Given the description of an element on the screen output the (x, y) to click on. 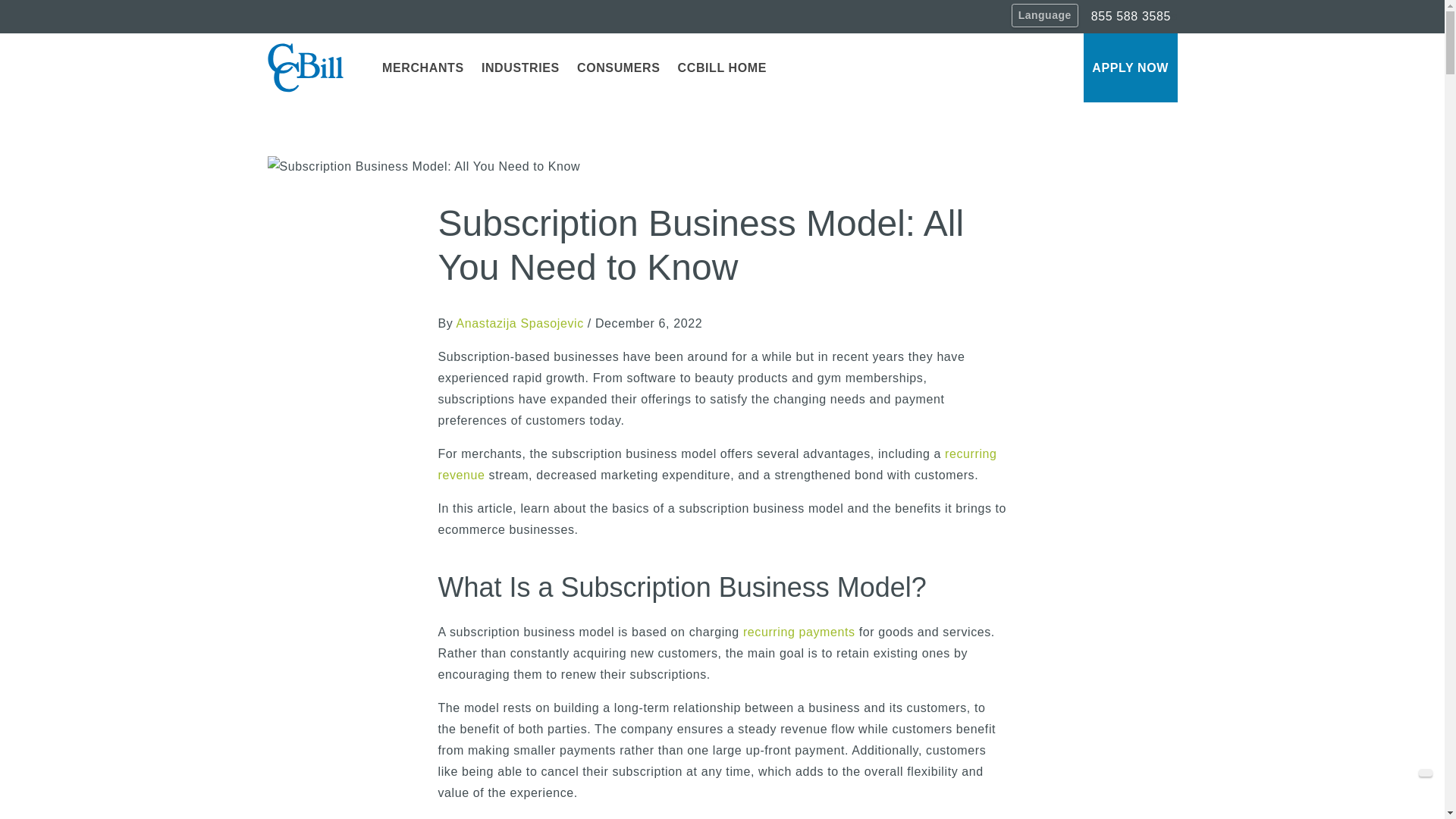
MERCHANTS (421, 67)
CONSUMERS (617, 67)
Anastazija Spasojevic (520, 323)
Back to top (1425, 772)
recurring revenue (717, 464)
APPLY NOW (1130, 67)
CCBILL HOME (722, 67)
INDUSTRIES (519, 67)
CONSUMERS (617, 67)
INDUSTRIES (519, 67)
